Given the description of an element on the screen output the (x, y) to click on. 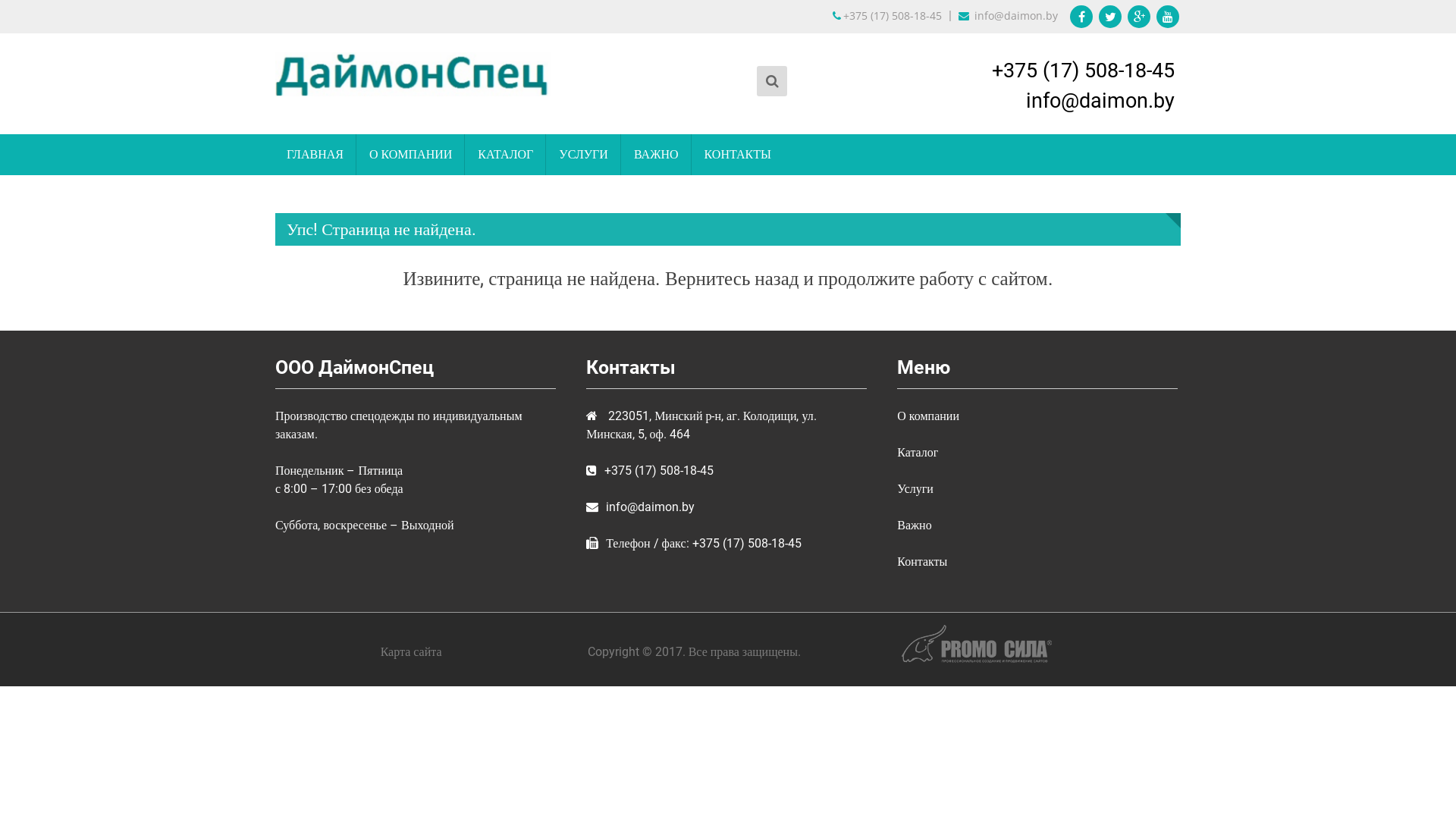
info@daimon.by Element type: text (1100, 100)
info@daimon.by Element type: text (1005, 15)
Skip to content Element type: text (0, 0)
DAIMON.BY Element type: text (332, 125)
+375 (17) 508-18-45 Element type: text (888, 15)
+375 (17) 508-18-45 Element type: text (1082, 70)
